Given the description of an element on the screen output the (x, y) to click on. 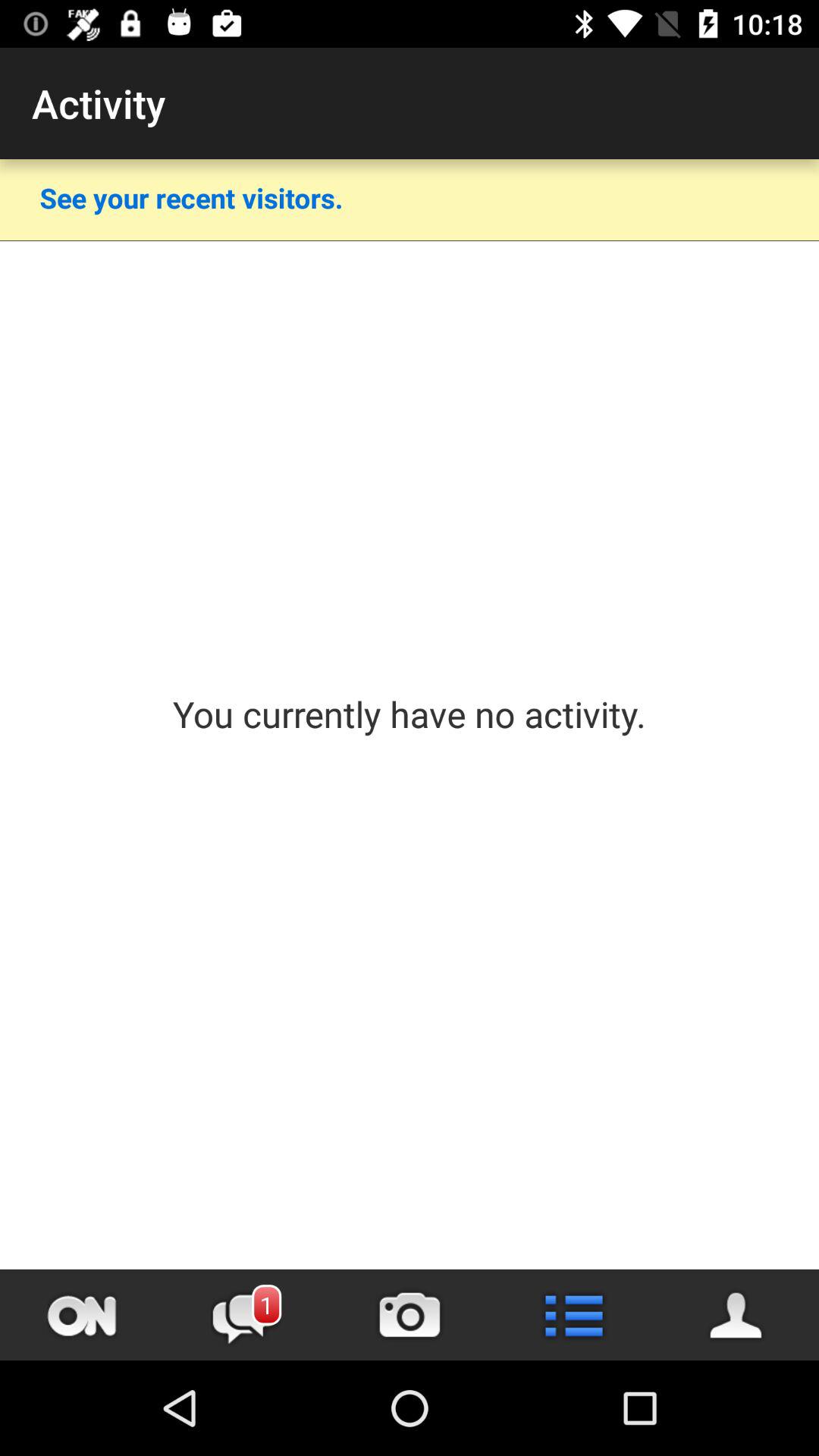
profile (737, 1315)
